Given the description of an element on the screen output the (x, y) to click on. 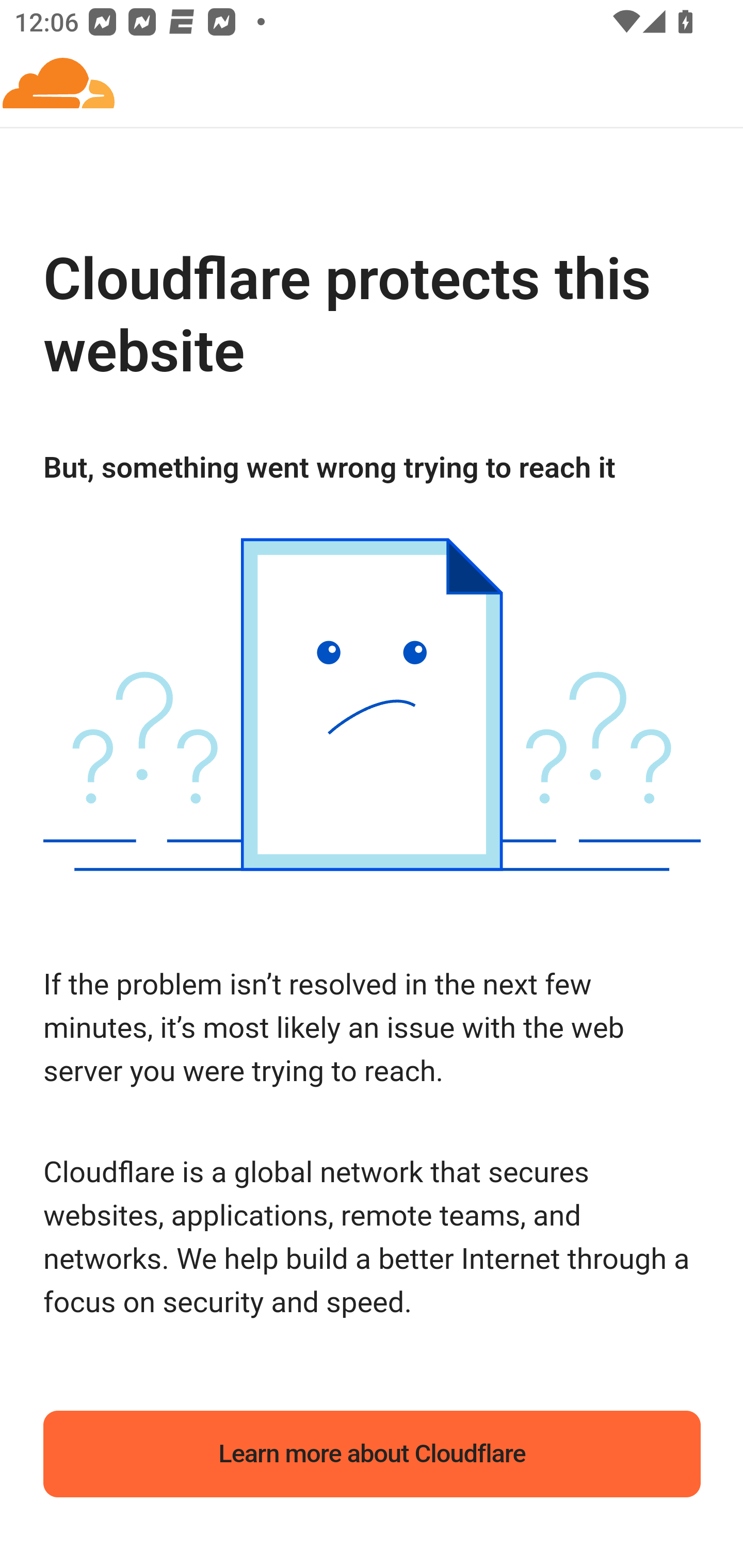
www.cloudflare (59, 84)
Learn more about Cloudflare (372, 1454)
